Given the description of an element on the screen output the (x, y) to click on. 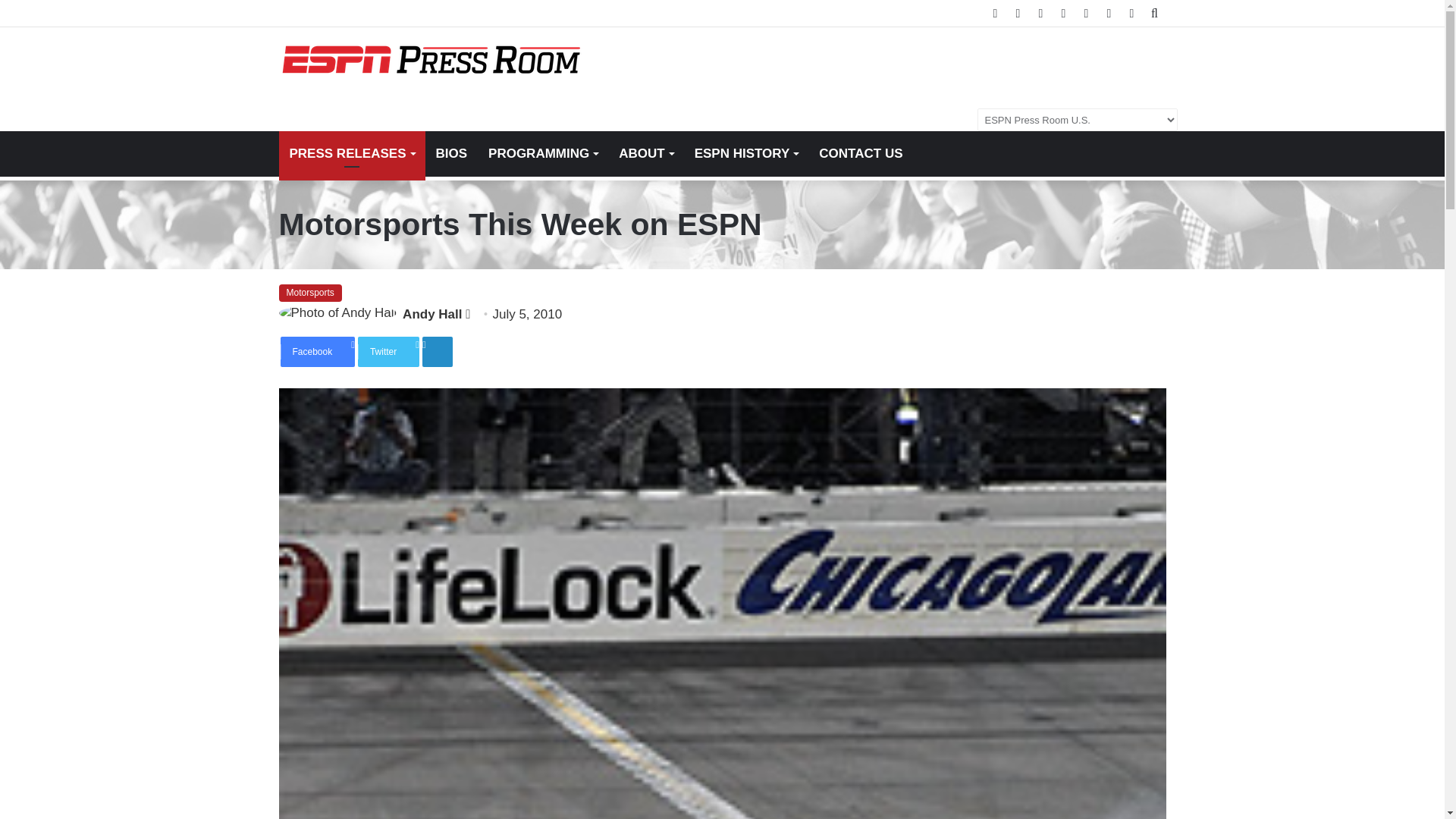
Twitter (388, 351)
Motorsports (310, 292)
LinkedIn (437, 351)
Andy Hall (432, 314)
Facebook (318, 351)
ESPN Press Room U.S. (430, 59)
PRESS RELEASES (352, 153)
CONTACT US (860, 153)
ESPN HISTORY (746, 153)
ABOUT (645, 153)
Andy Hall (432, 314)
PROGRAMMING (542, 153)
BIOS (451, 153)
